Given the description of an element on the screen output the (x, y) to click on. 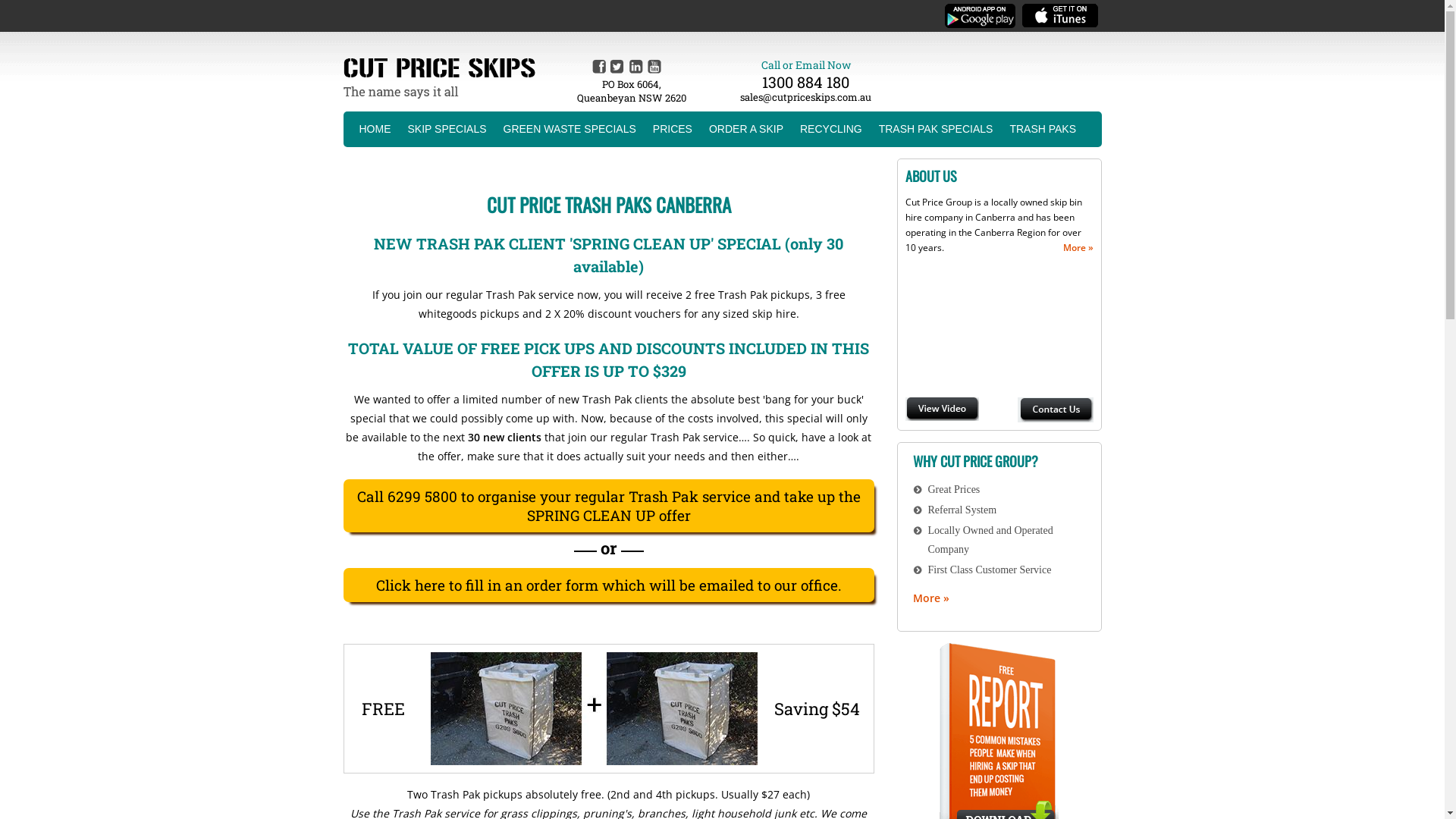
TRASH PAKS Element type: text (1042, 129)
RECYCLING Element type: text (830, 129)
ORDER A SKIP Element type: text (745, 129)
PRICES Element type: text (672, 129)
Youtube Element type: text (655, 65)
HOME Element type: text (374, 129)
Twitter Element type: text (617, 65)
SKIP SPECIALS Element type: text (447, 129)
TRASH PAK SPECIALS Element type: text (935, 129)
Linked Element type: text (636, 65)
GREEN WASTE SPECIALS Element type: text (569, 129)
facebook Element type: text (598, 65)
